Given the description of an element on the screen output the (x, y) to click on. 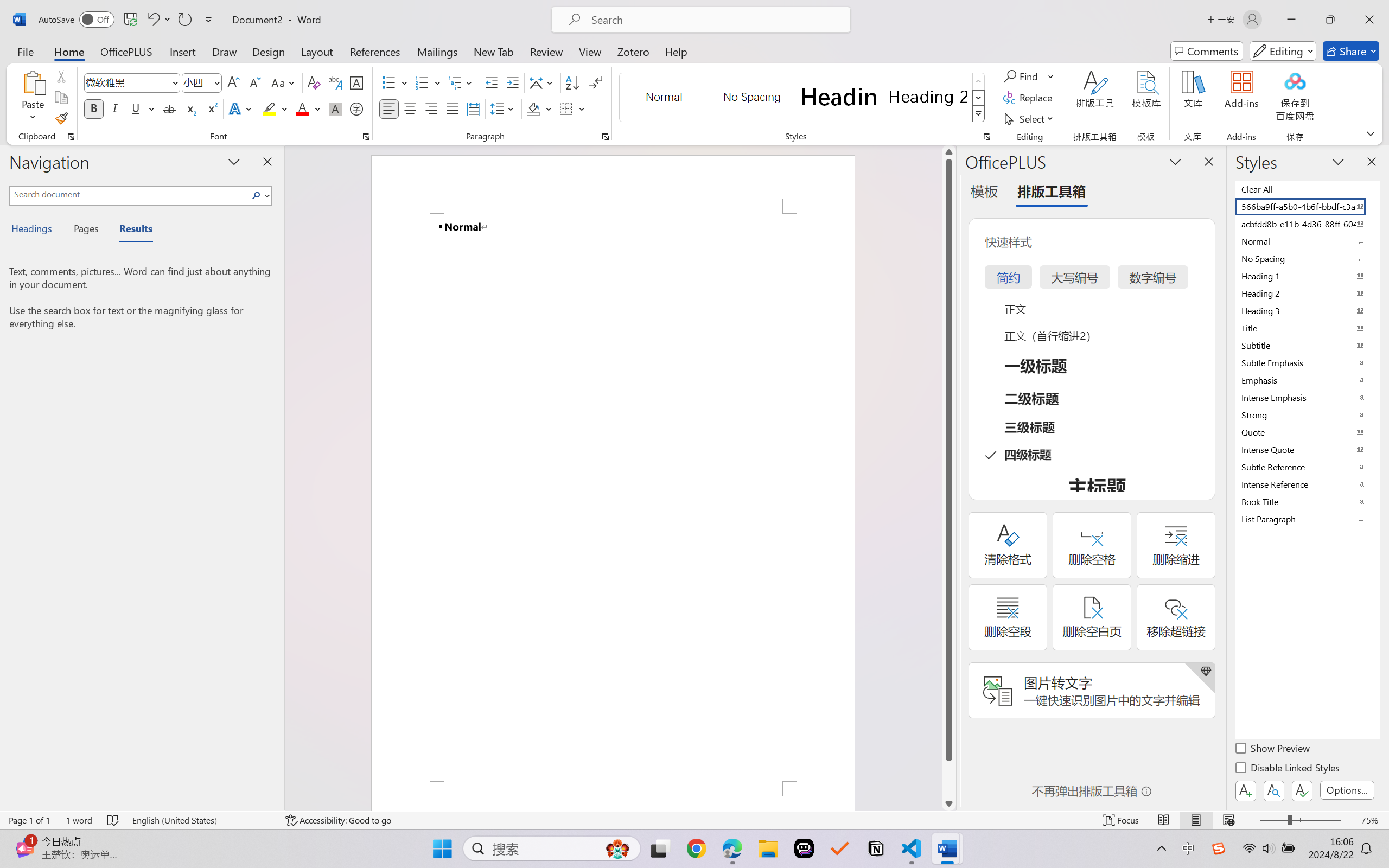
Subtle Emphasis (1306, 362)
Mailings (437, 51)
Paragraph... (605, 136)
Heading 1 (839, 96)
Zoom (1300, 819)
Bold (94, 108)
Title (1306, 327)
Open (215, 82)
Asian Layout (542, 82)
Design (268, 51)
Emphasis (1306, 379)
Heading 2 (927, 96)
